Given the description of an element on the screen output the (x, y) to click on. 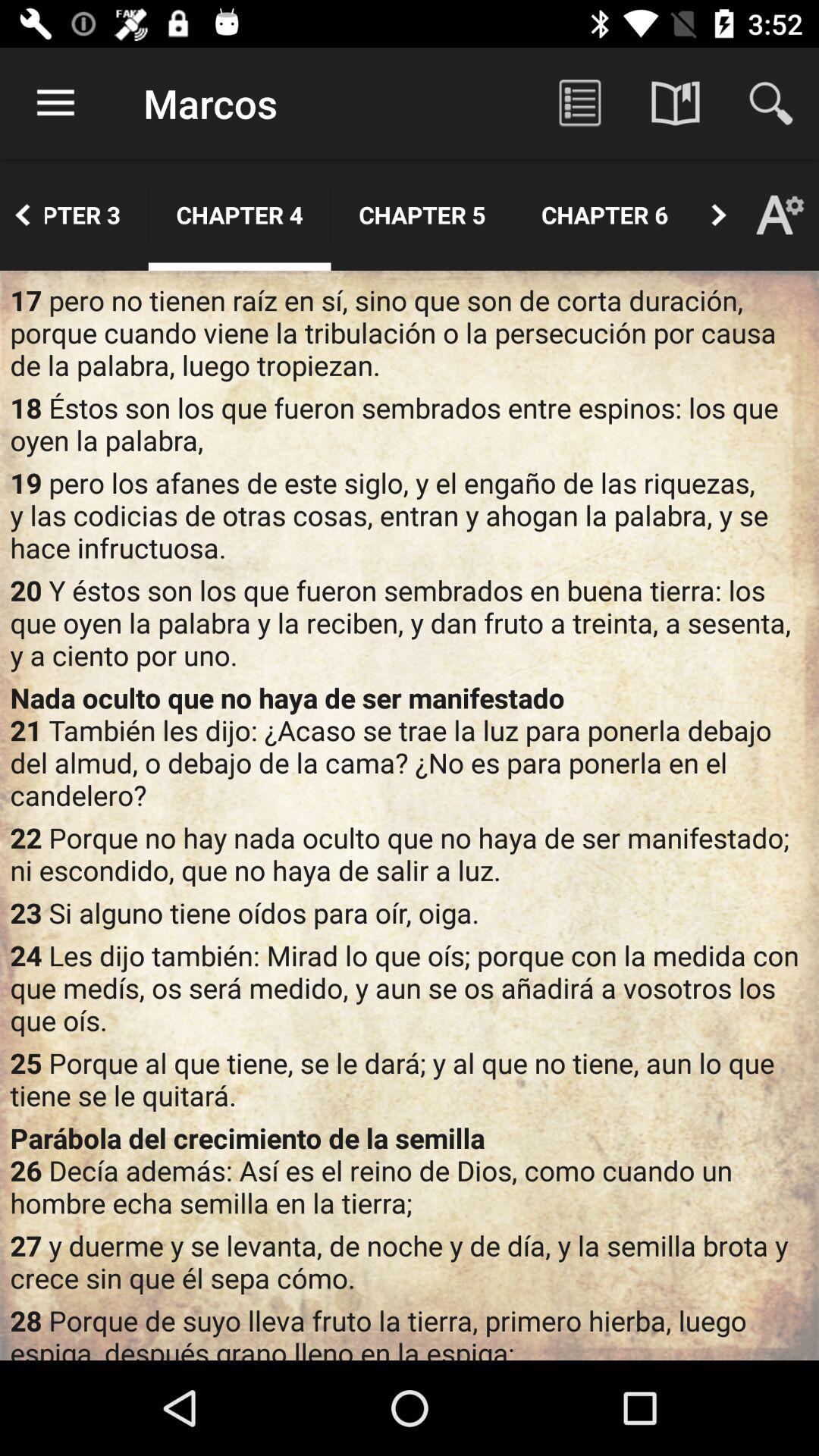
click the item above 28 porque de (409, 1261)
